Given the description of an element on the screen output the (x, y) to click on. 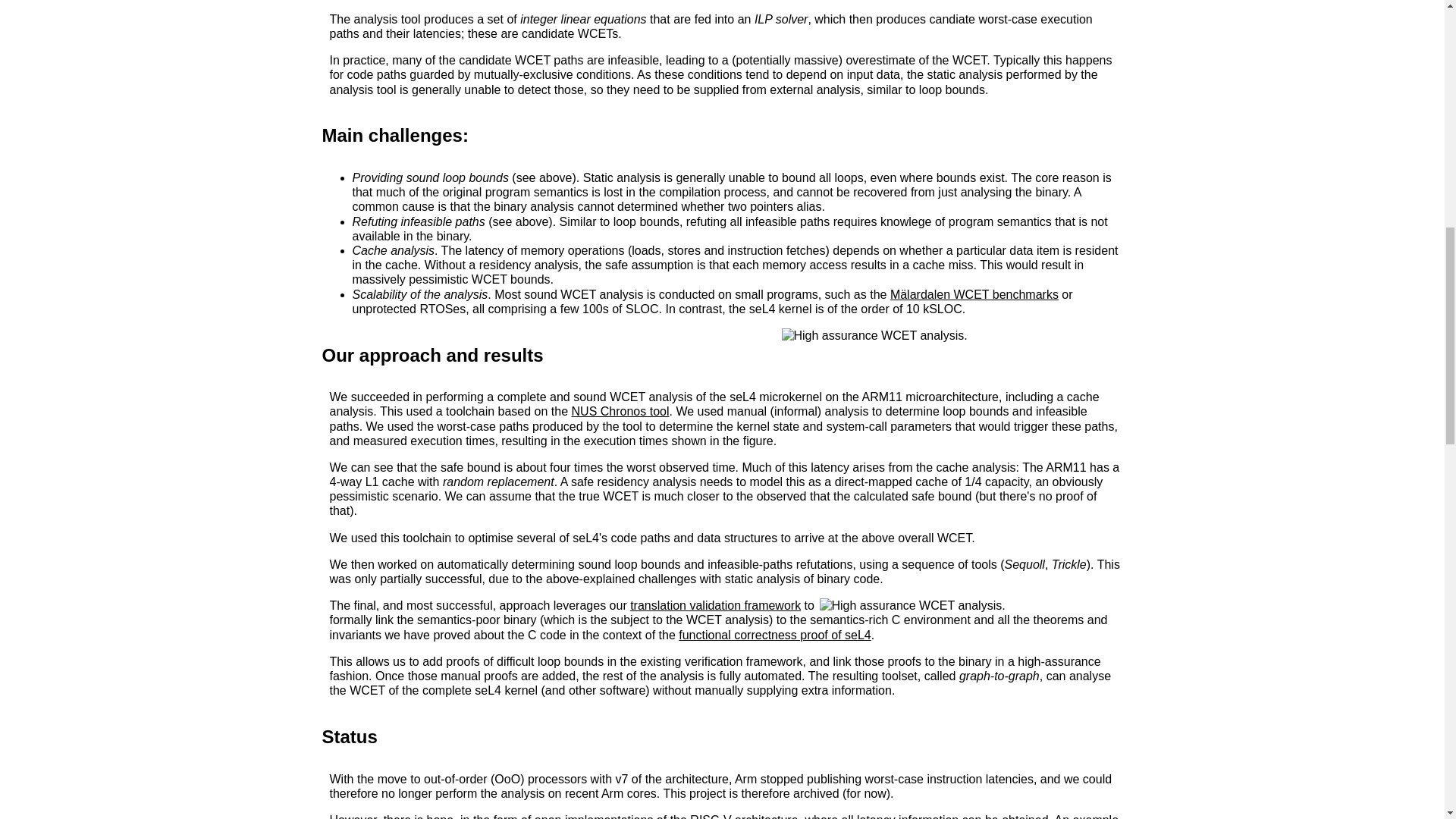
functional correctness proof of seL4 (774, 634)
NUS Chronos tool (620, 410)
translation validation framework (715, 604)
